Given the description of an element on the screen output the (x, y) to click on. 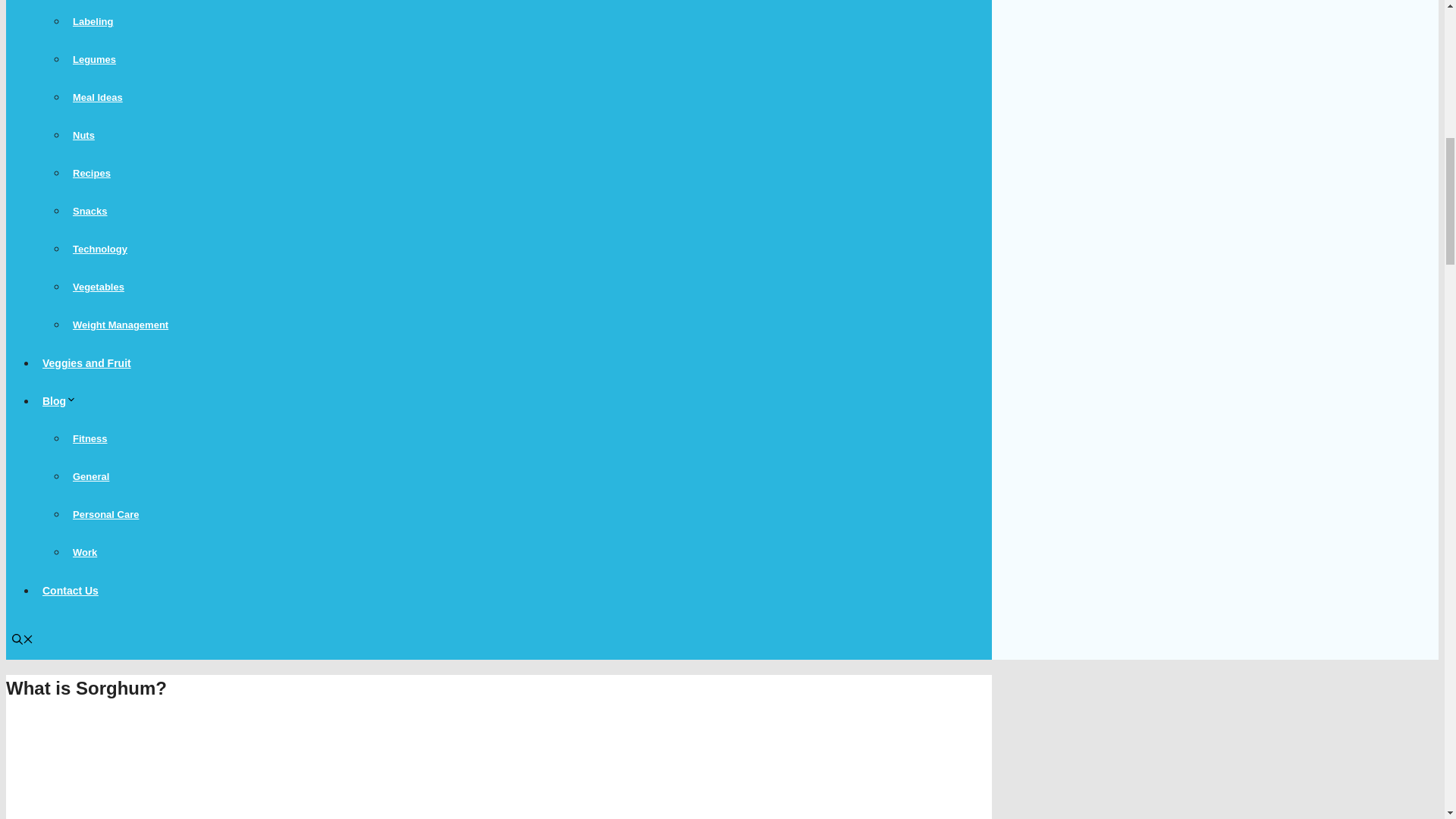
Recipes (91, 172)
Veggies and Fruit (86, 363)
Fitness (89, 438)
Legumes (94, 58)
Work (84, 551)
General (90, 476)
Blog (62, 400)
Personal Care (105, 514)
Labeling (92, 21)
Nuts (83, 135)
